Given the description of an element on the screen output the (x, y) to click on. 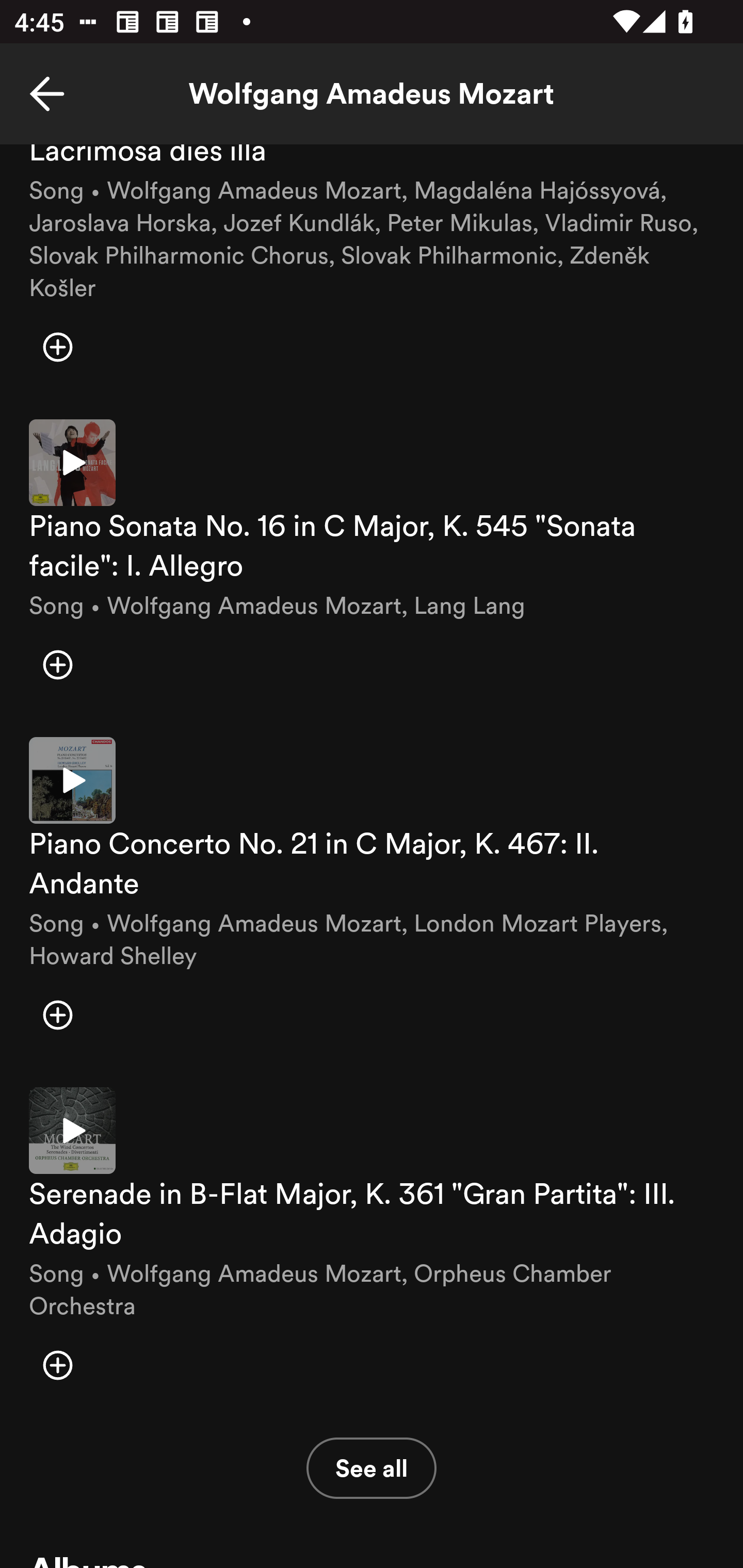
Back (46, 93)
Add item (57, 347)
Play preview (71, 462)
Add item (57, 664)
Play preview (71, 779)
Add item (57, 1015)
Play preview (71, 1130)
Add item (57, 1364)
See all (371, 1468)
